Given the description of an element on the screen output the (x, y) to click on. 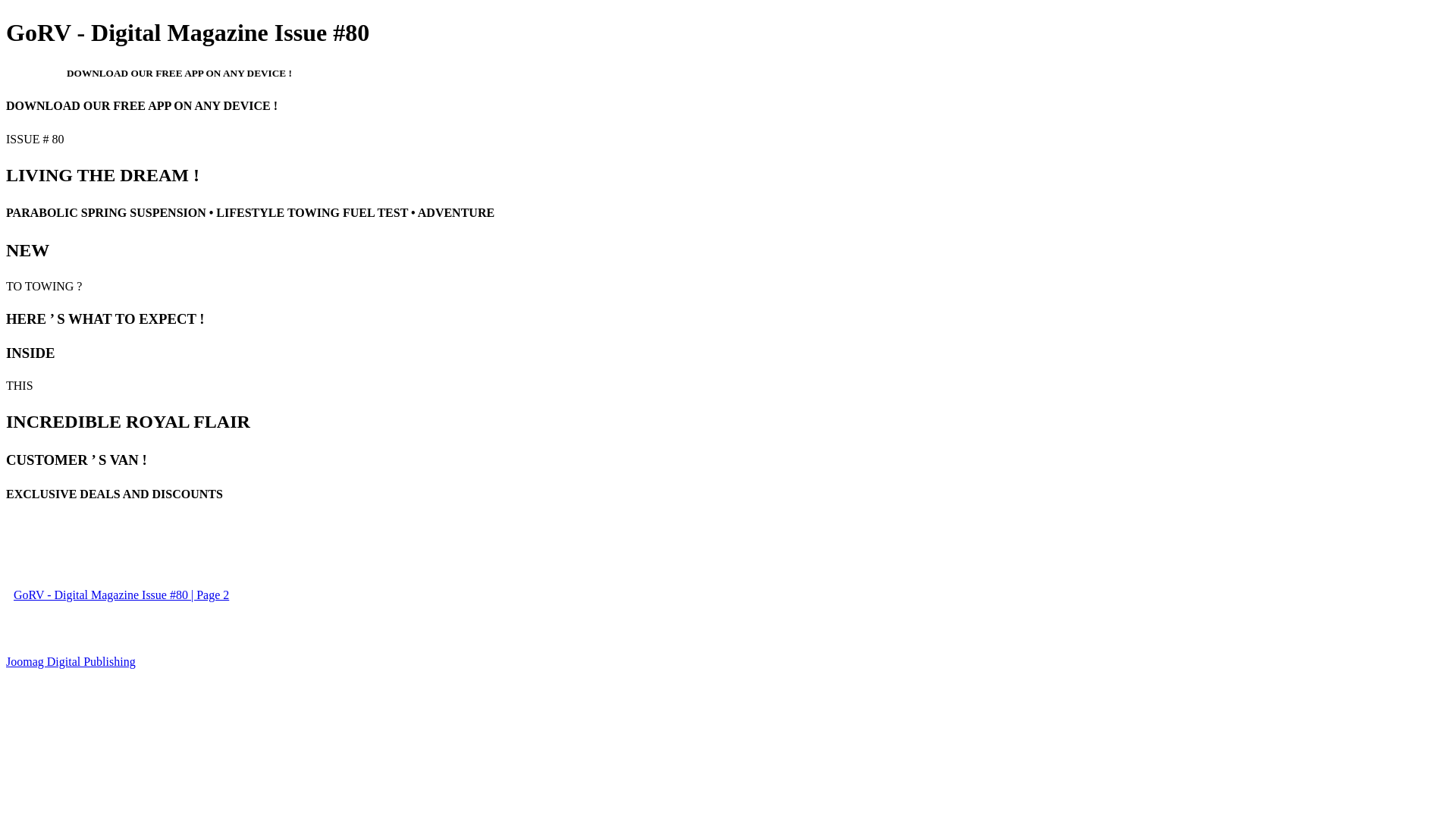
GoRV - Digital Magazine Issue #80 | Page 2 Element type: text (121, 594)
Joomag Digital Publishing Element type: text (70, 661)
